Given the description of an element on the screen output the (x, y) to click on. 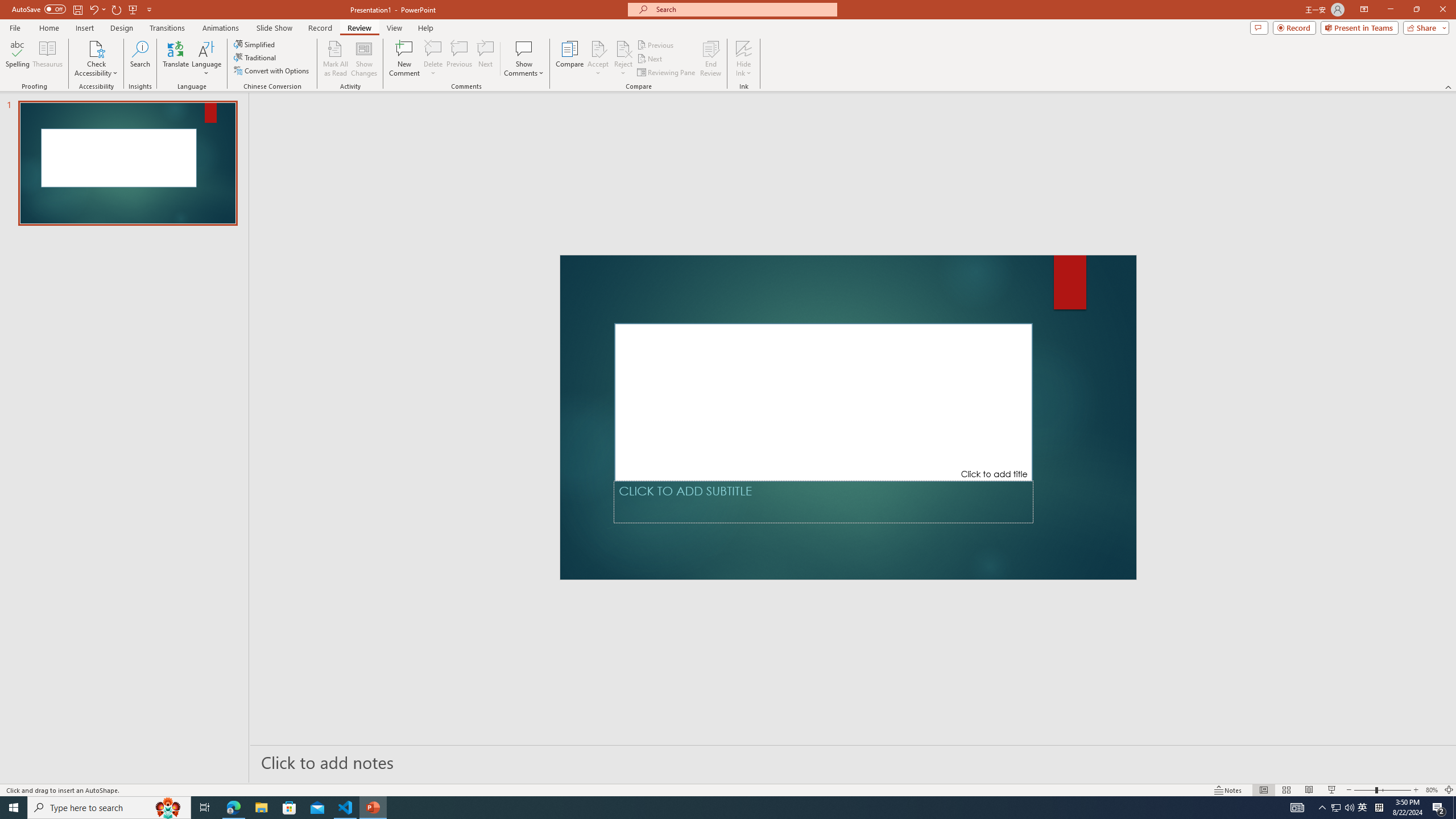
Accept (598, 58)
Compare (569, 58)
Simplified (254, 44)
Reject (622, 58)
Mark All as Read (335, 58)
Translate (175, 58)
